Given the description of an element on the screen output the (x, y) to click on. 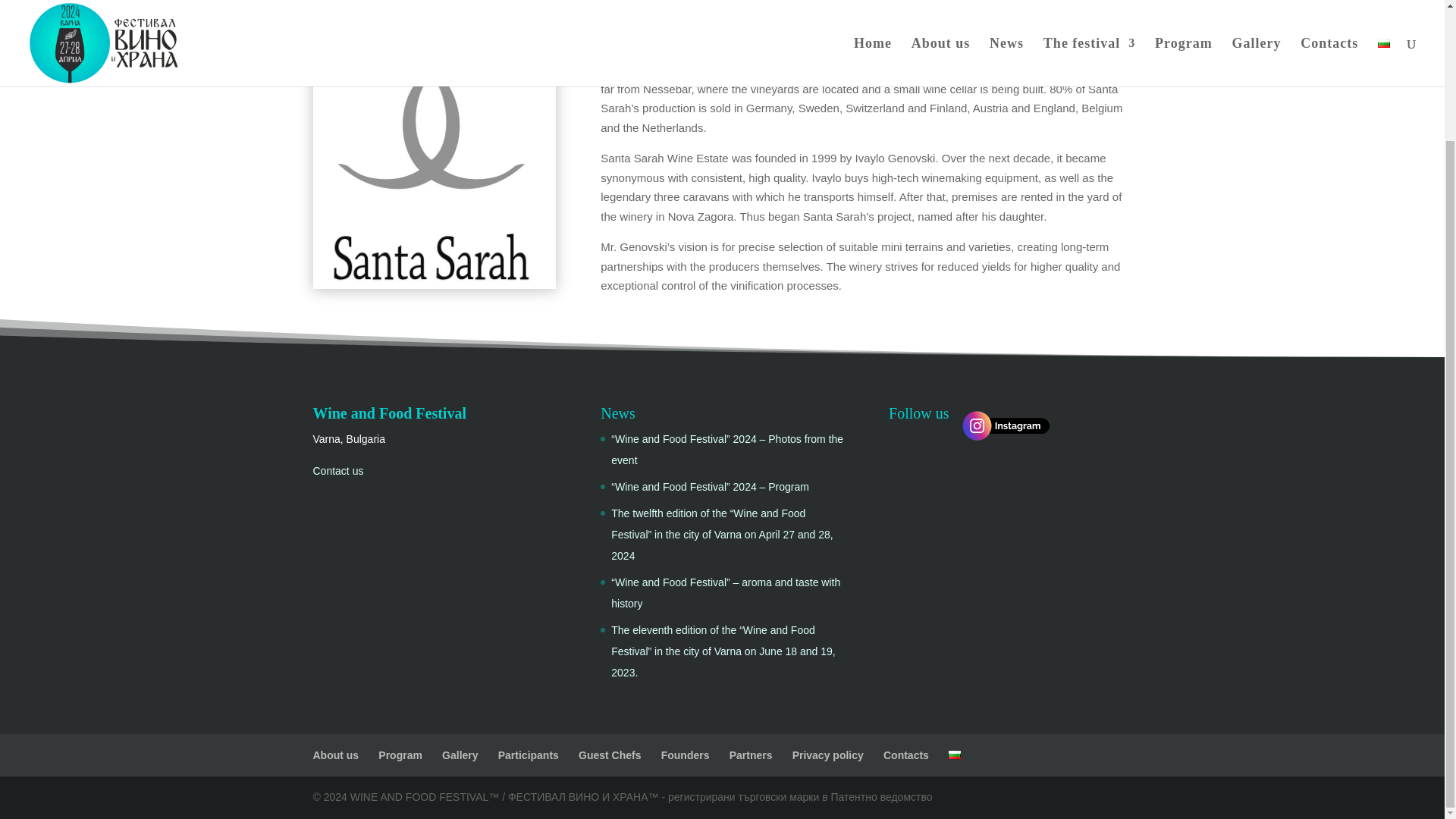
Santa-Sarah-logo (433, 174)
About us (335, 755)
Contact us (337, 470)
Participants (528, 755)
Gallery (459, 755)
Program (400, 755)
